Given the description of an element on the screen output the (x, y) to click on. 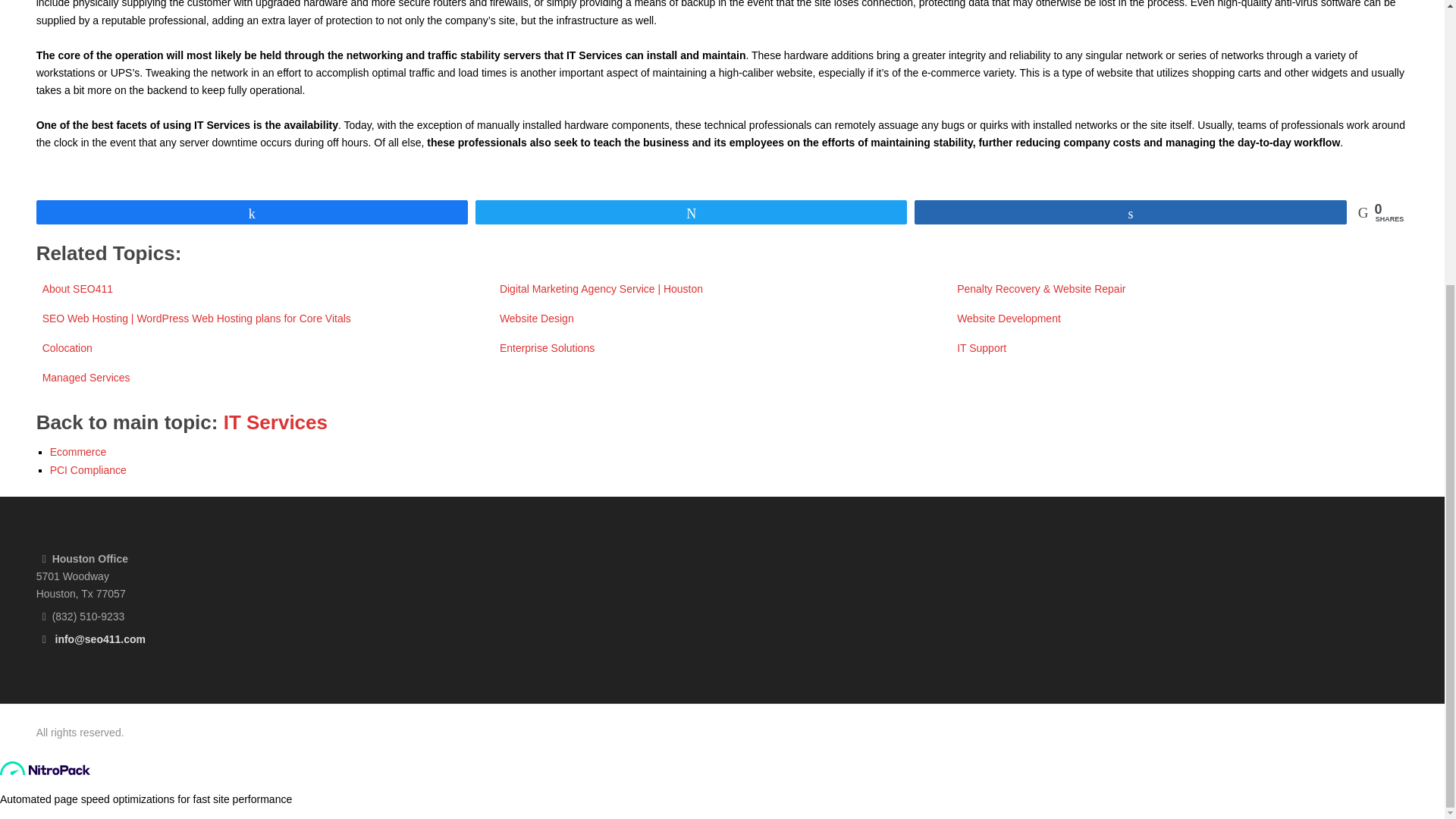
Ecommerce (77, 451)
Website Development (1008, 318)
IT Services (275, 422)
IT Support (981, 347)
PCI Compliance (87, 469)
Managed Services (86, 377)
Website Design (536, 318)
Enterprise Solutions (546, 347)
About SEO411 (77, 288)
Colocation (67, 347)
